Given the description of an element on the screen output the (x, y) to click on. 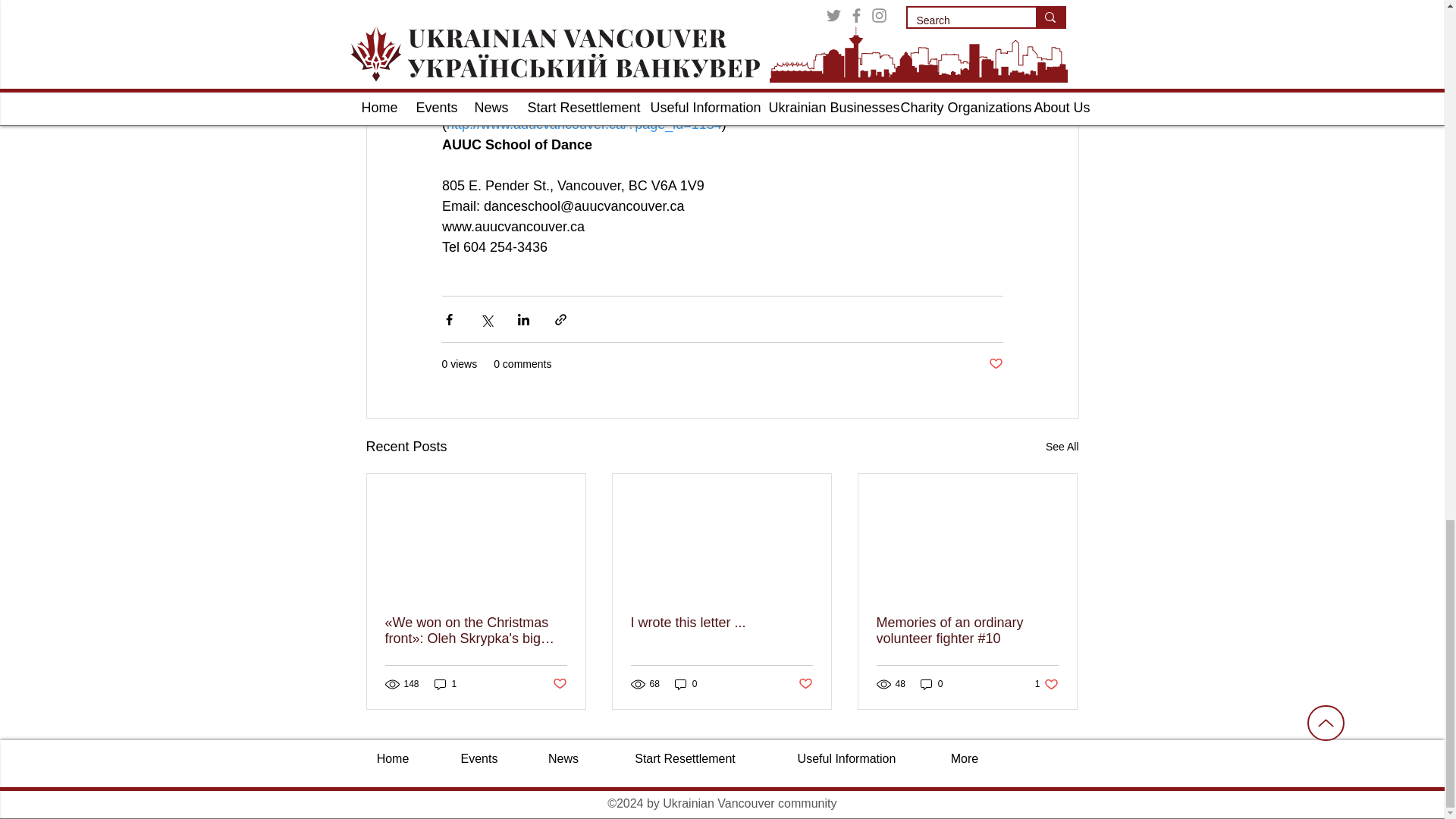
Post not marked as liked (995, 364)
See All (1061, 446)
1 (445, 683)
Post not marked as liked (558, 684)
I wrote this letter ... (721, 622)
Post not marked as liked (804, 684)
0 (685, 683)
